Given the description of an element on the screen output the (x, y) to click on. 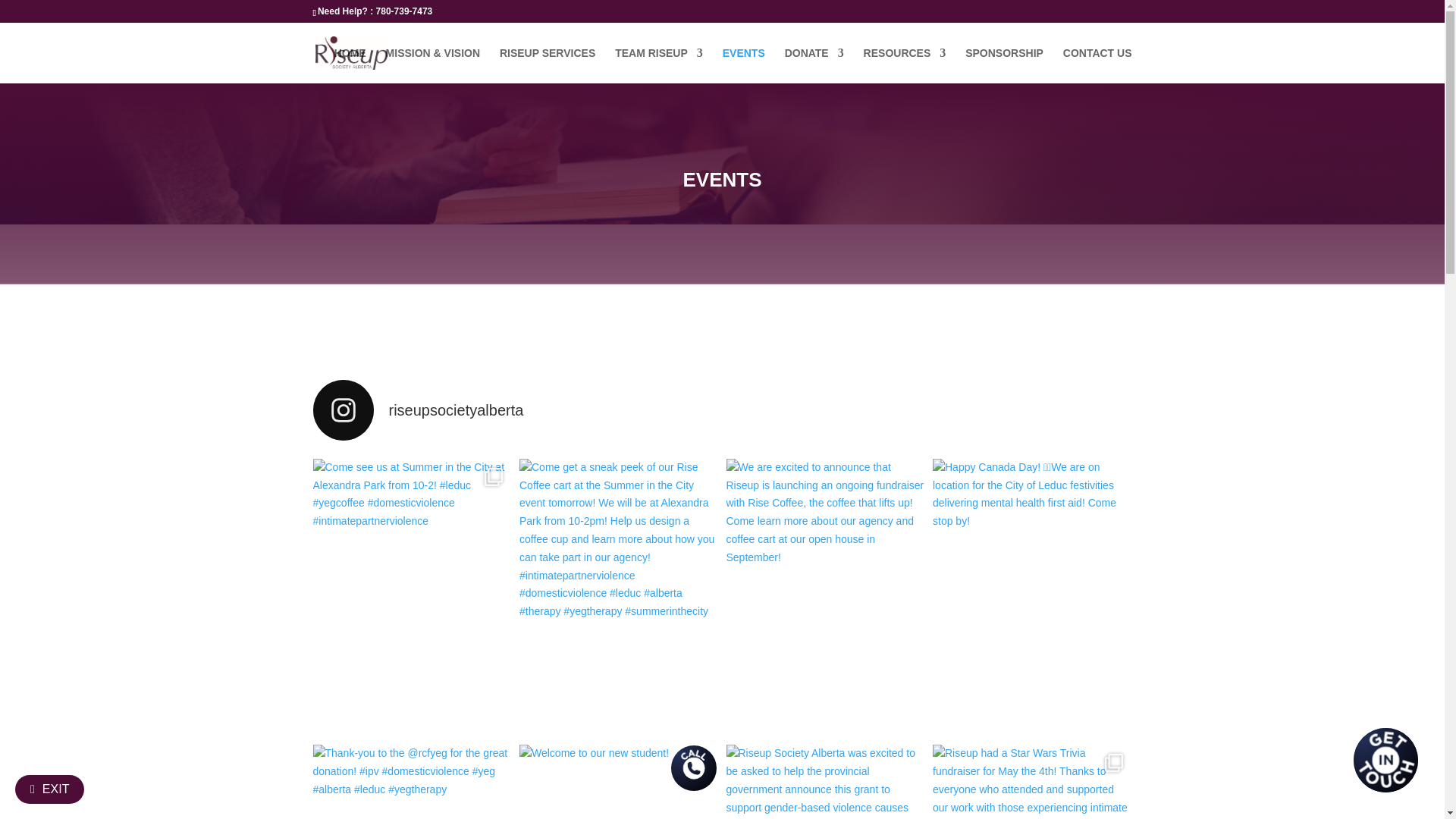
RISEUP SERVICES (547, 65)
EVENTS (743, 65)
DONATE (814, 65)
CONTACT US (1097, 65)
SPONSORSHIP (1004, 65)
RESOURCES (904, 65)
TEAM RISEUP (658, 65)
EXIT (49, 788)
HOME (350, 65)
